Given the description of an element on the screen output the (x, y) to click on. 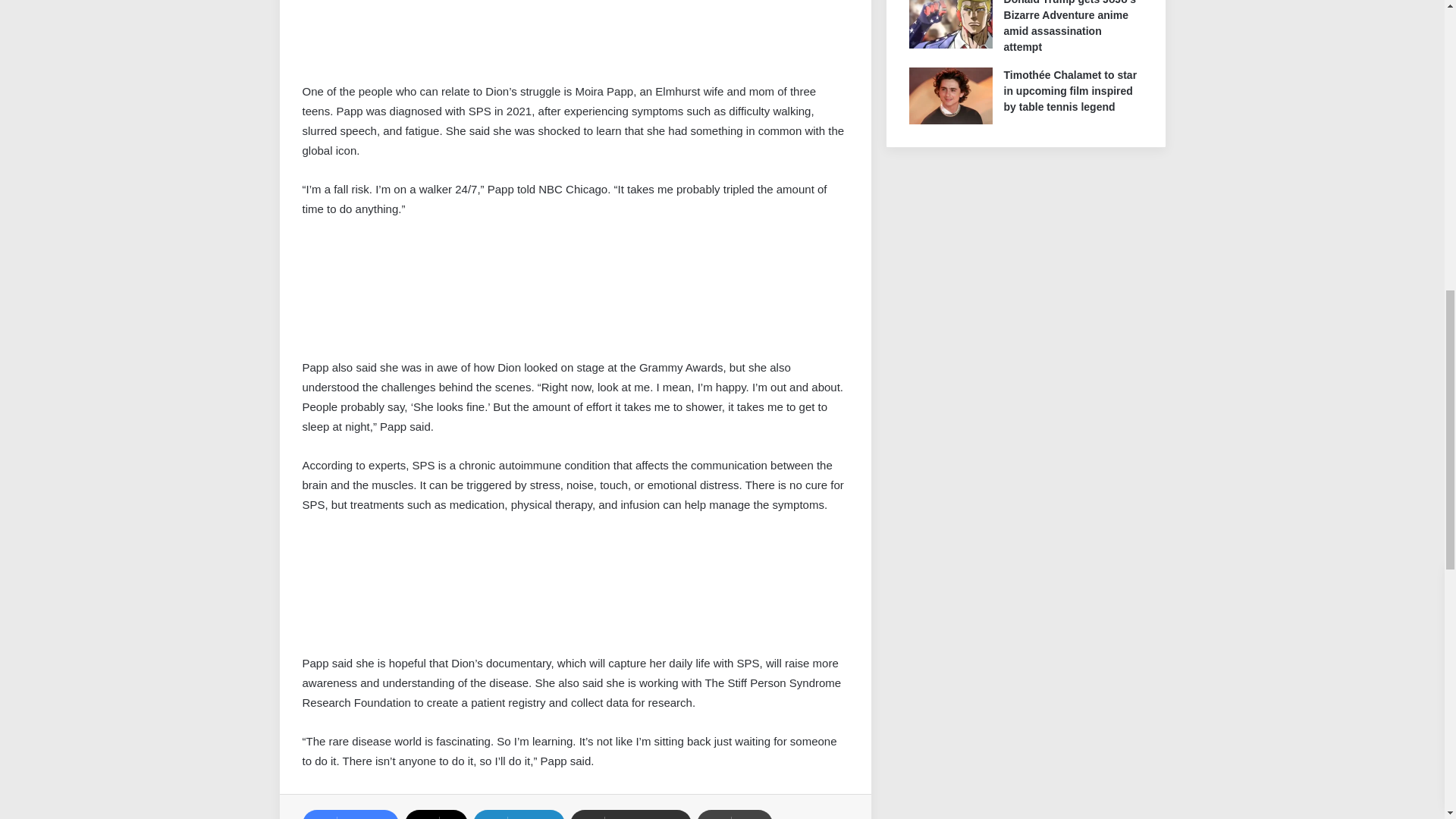
X Post (415, 295)
Share via Email (630, 814)
LinkedIn (518, 814)
X Post (415, 590)
X (435, 814)
Facebook (349, 814)
Facebook (349, 814)
LinkedIn (518, 814)
X (435, 814)
Print (735, 814)
Share via Email (630, 814)
X Post (415, 38)
Print (735, 814)
